Given the description of an element on the screen output the (x, y) to click on. 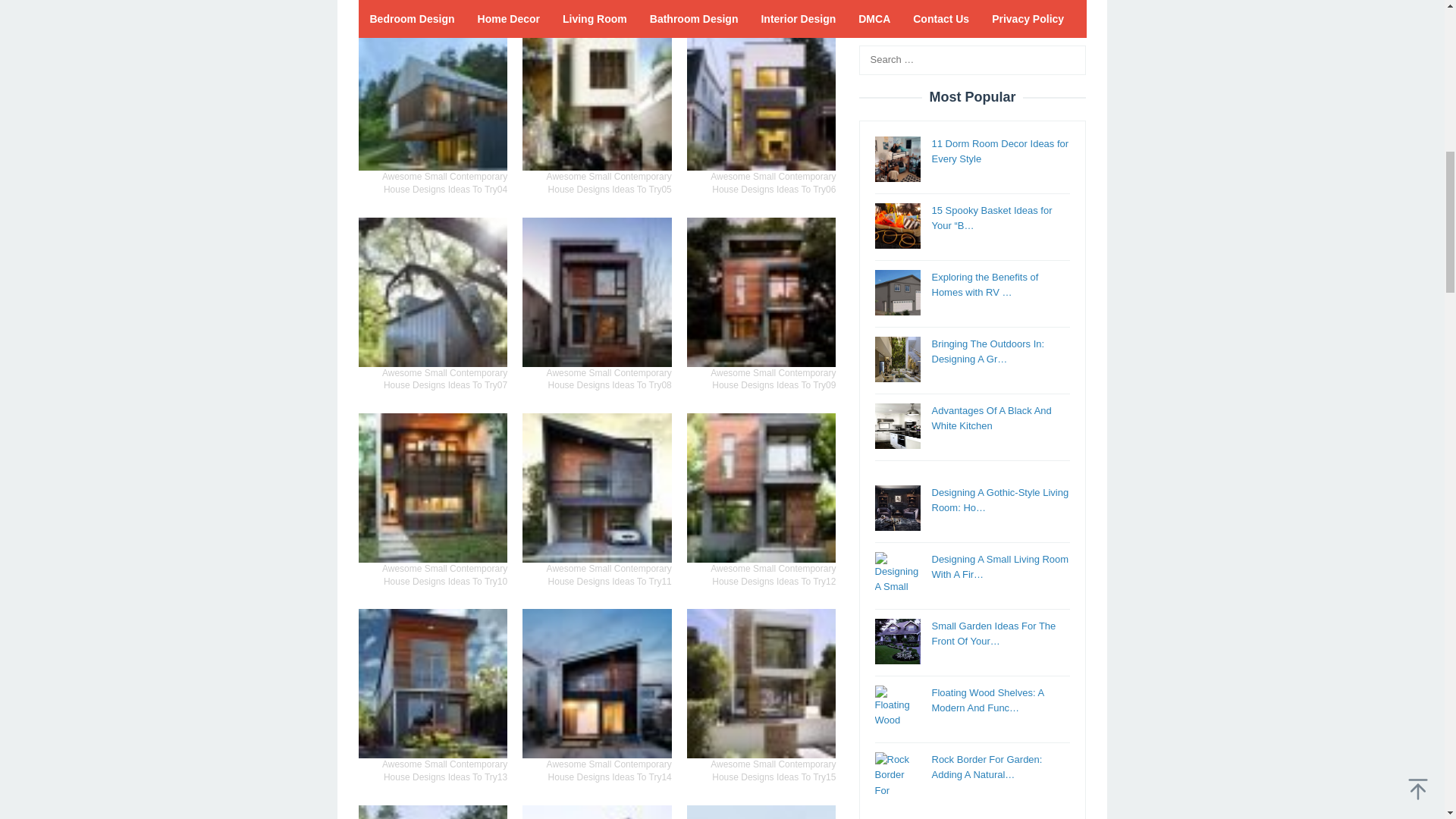
Awesome Small Contemporary House Designs Ideas To Try07 (432, 291)
Awesome Small Contemporary House Designs Ideas To Try05 (596, 96)
Awesome Small Contemporary House Designs Ideas To Try06 (761, 96)
Awesome Small Contemporary House Designs Ideas To Try12 (761, 487)
Awesome Small Contemporary House Designs Ideas To Try08 (596, 291)
Awesome Small Contemporary House Designs Ideas To Try04 (432, 96)
Awesome Small Contemporary House Designs Ideas To Try10 (432, 487)
Awesome Small Contemporary House Designs Ideas To Try09 (761, 291)
Awesome Small Contemporary House Designs Ideas To Try11 (596, 487)
Awesome Small Contemporary House Designs Ideas To Try13 (432, 683)
